Given the description of an element on the screen output the (x, y) to click on. 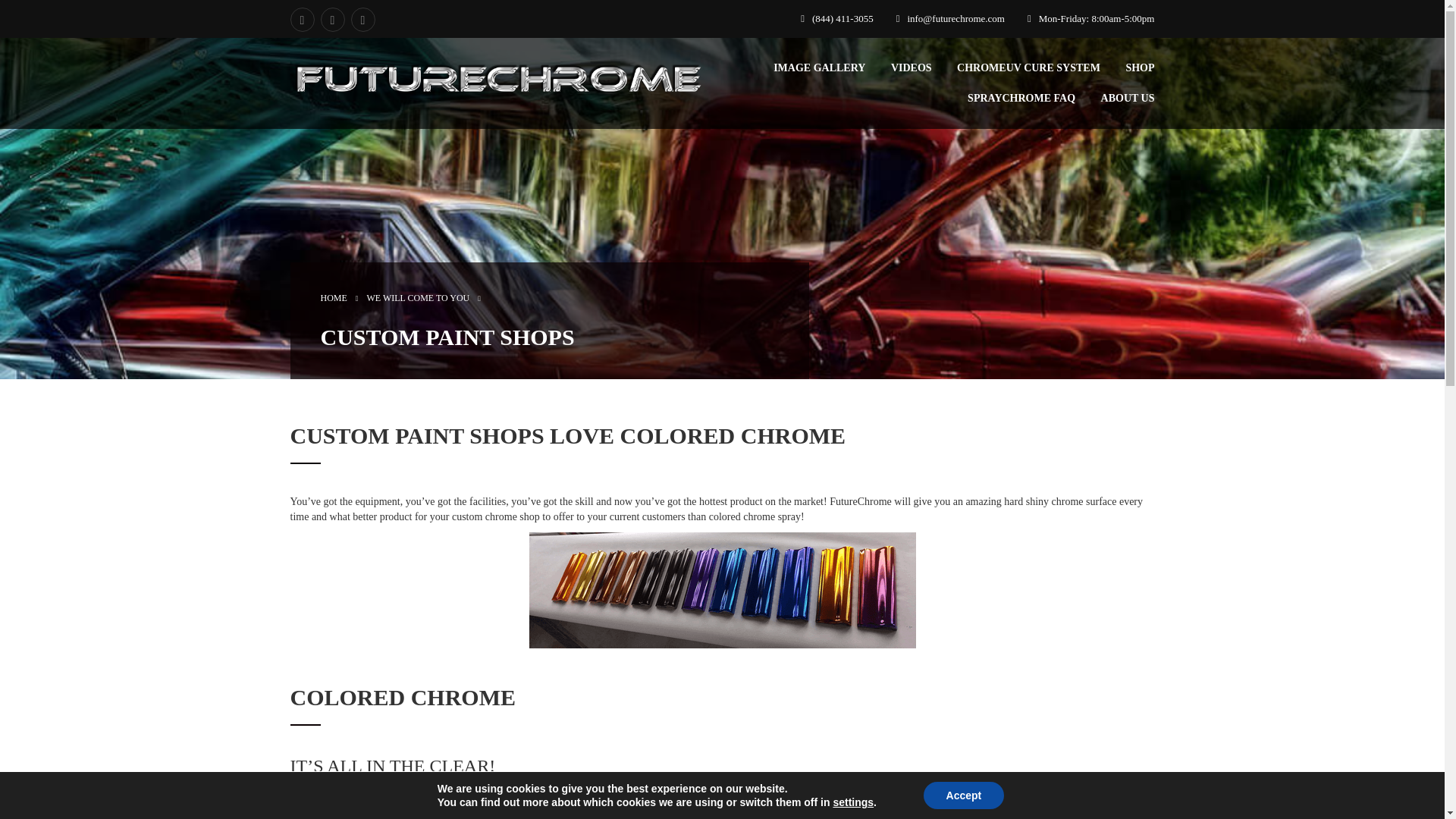
SHOP (1139, 68)
IMAGE GALLERY (818, 68)
VIDEOS (911, 68)
CHROMEUV CURE SYSTEM (1028, 68)
FutureChrome - Brilliant Chrome Finish Over Any Material (498, 80)
We Will Come to You (418, 297)
Home (333, 297)
